Given the description of an element on the screen output the (x, y) to click on. 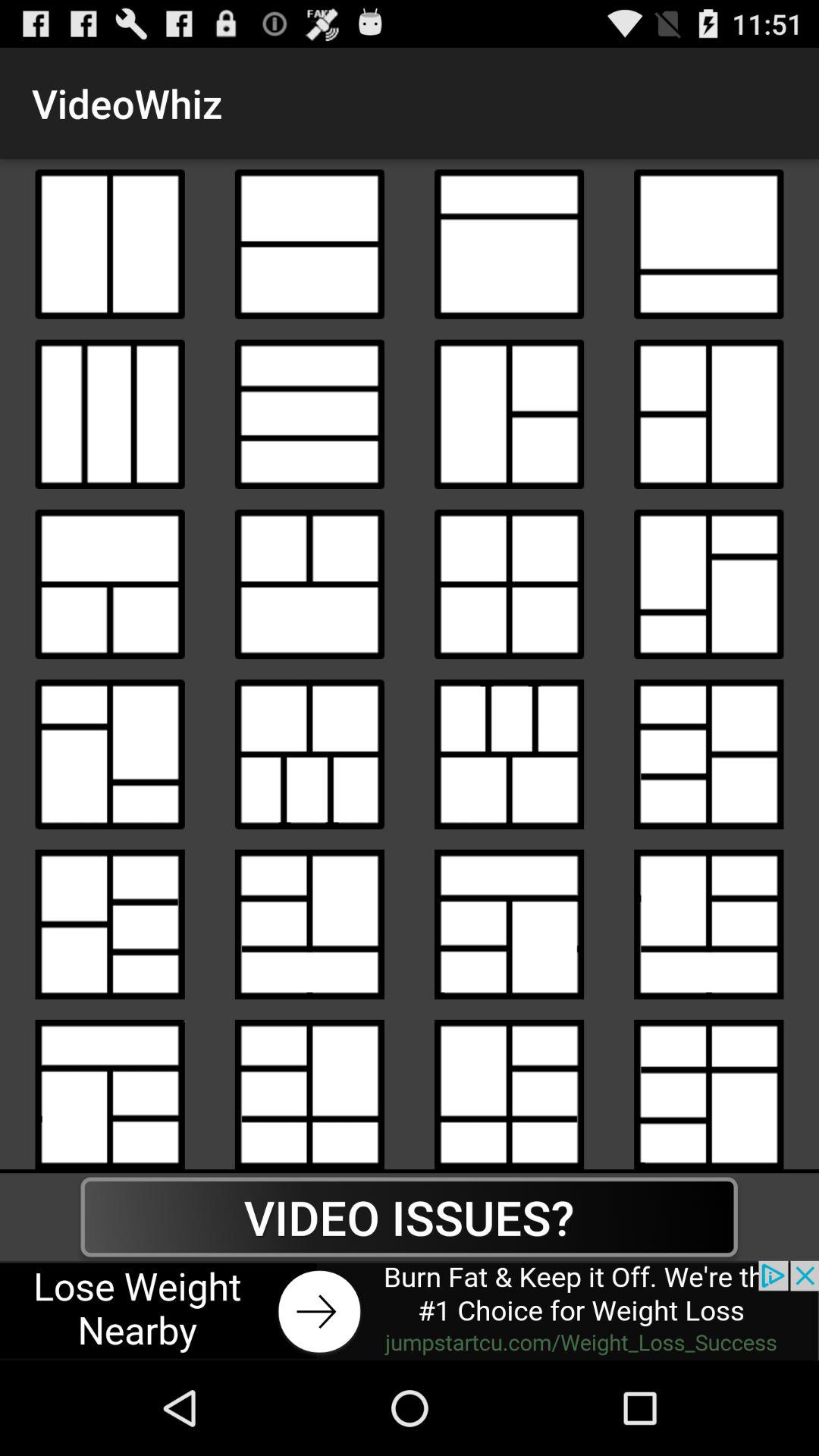
video view (309, 244)
